Given the description of an element on the screen output the (x, y) to click on. 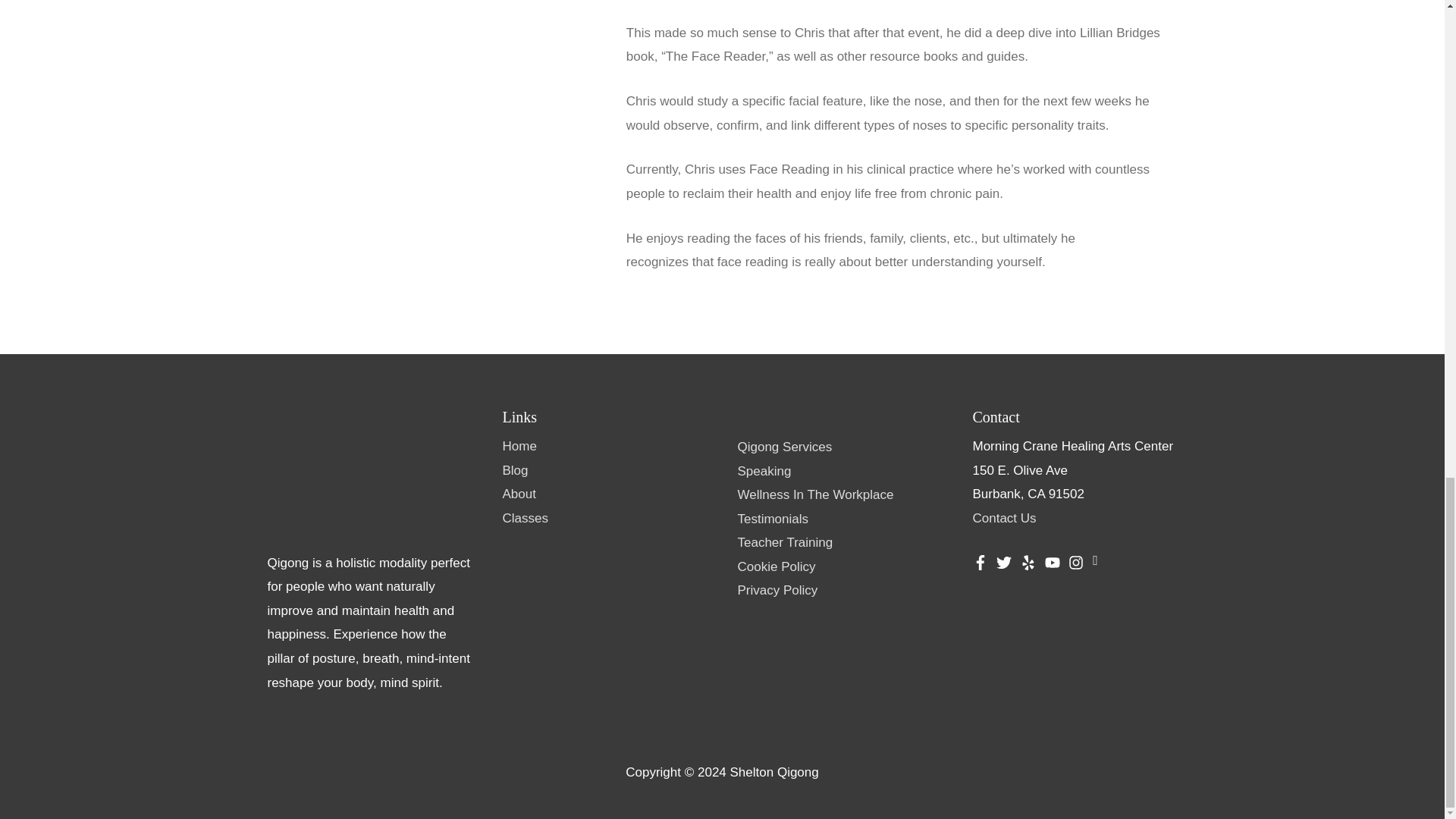
Classes (524, 518)
Wellness In The Workplace (814, 494)
Home (518, 445)
Speaking (763, 471)
Qigong Services (783, 446)
Cookie Policy (775, 566)
Blog (514, 469)
Teacher Training (784, 542)
Testimonials (772, 518)
About (518, 493)
